Given the description of an element on the screen output the (x, y) to click on. 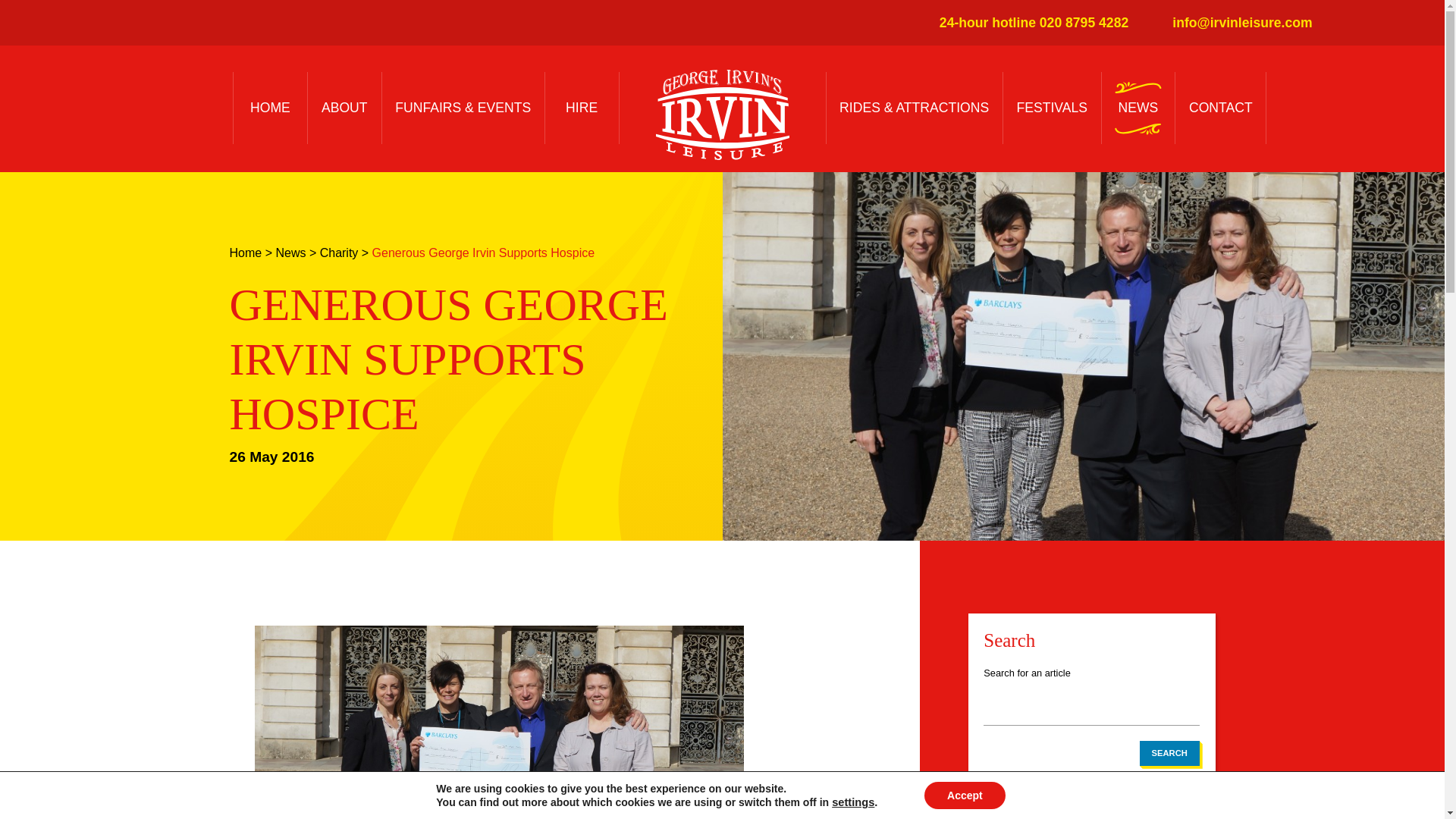
News (290, 252)
FESTIVALS (1051, 107)
SEARCH (1169, 752)
Home (245, 252)
24-hour hotline 020 8795 4282 (1024, 22)
ABOUT (344, 107)
HIRE (581, 107)
Charity (339, 252)
Twitter (1347, 22)
HOME (269, 107)
